Given the description of an element on the screen output the (x, y) to click on. 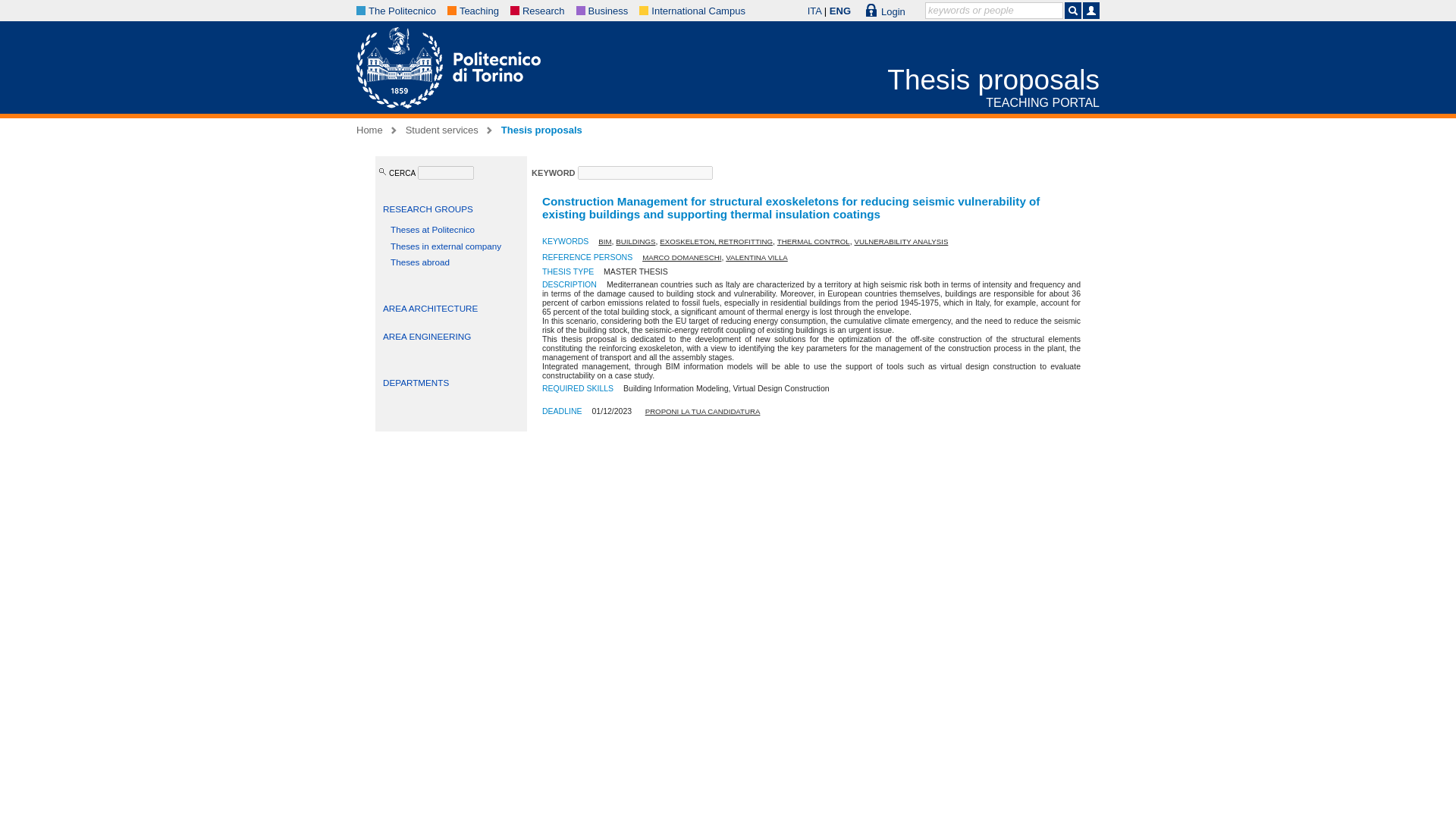
Search in Address Book (1091, 10)
PROPONI LA TUA CANDIDATURA (702, 411)
Theses abroad (419, 261)
EXOSKELETON, RETROFITTING (716, 241)
VALENTINA VILLA (756, 257)
Business (608, 10)
Login (885, 11)
AREA ENGINEERING (426, 336)
International Campus (697, 10)
Teaching (479, 10)
The Politecnico (401, 10)
MARCO DOMANESCHI (681, 257)
Theses at Politecnico (432, 229)
Theses in external company (445, 245)
RESEARCH GROUPS (427, 208)
